Given the description of an element on the screen output the (x, y) to click on. 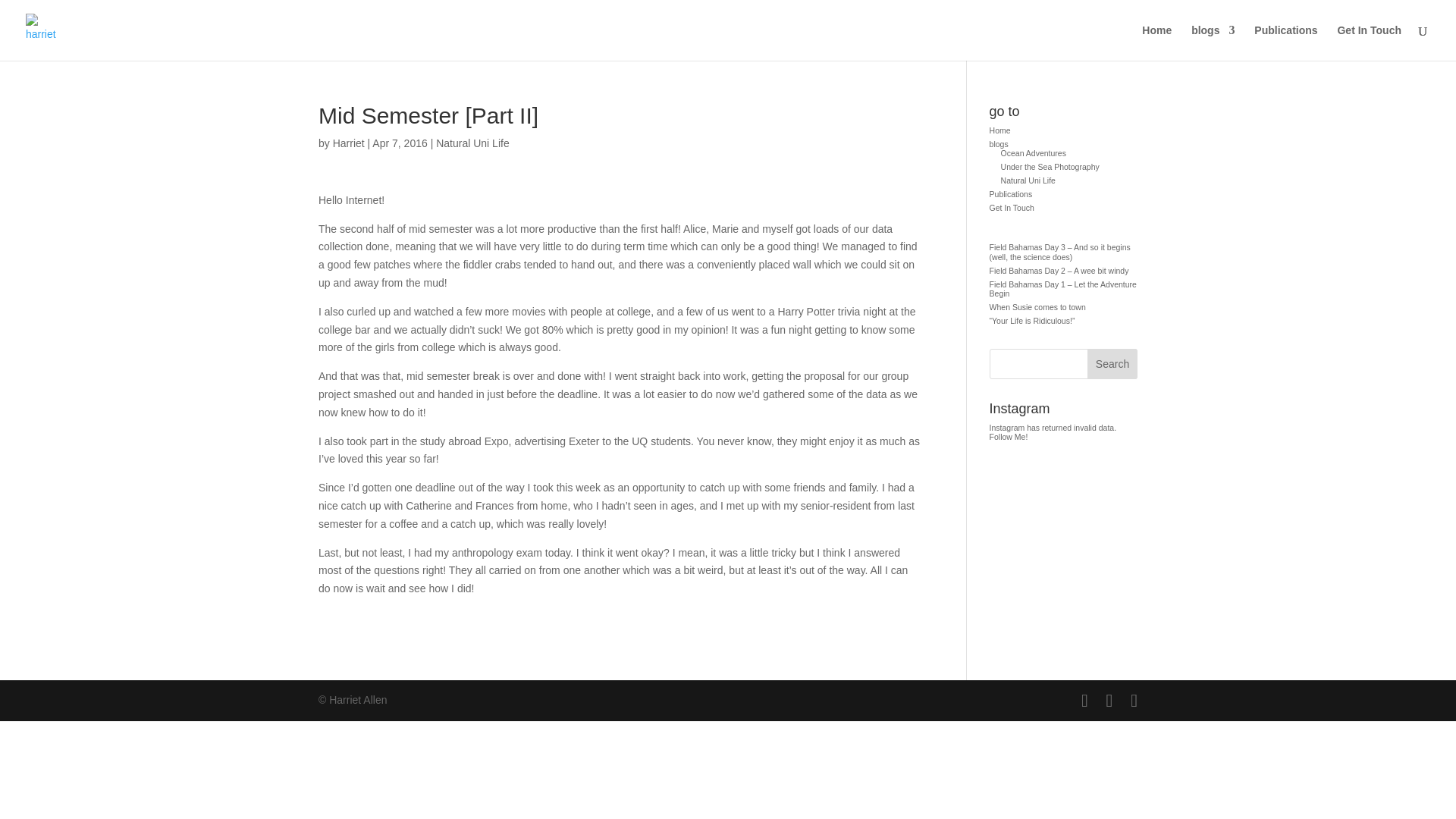
Posts by Harriet (349, 143)
Harriet (349, 143)
Natural Uni Life (1028, 180)
Natural Uni Life (472, 143)
Get In Touch (1368, 42)
Ocean Adventures (1033, 153)
Home (1000, 130)
Search (1112, 363)
Follow Me! (1008, 436)
Under the Sea Photography (1050, 166)
